Given the description of an element on the screen output the (x, y) to click on. 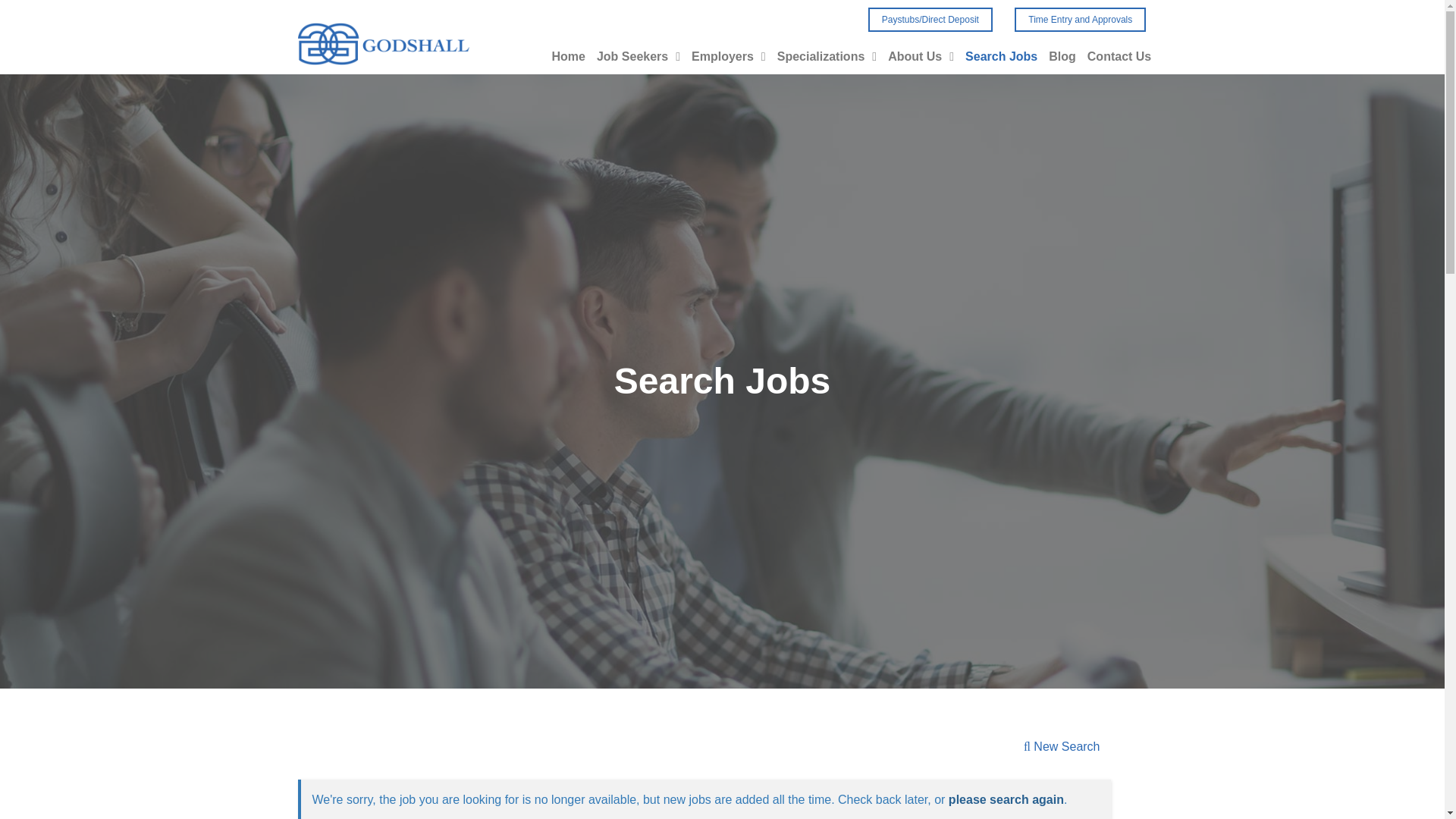
Blog (1061, 56)
Contact Us (1119, 56)
Search Jobs (1001, 55)
Specializations (826, 51)
Time Entry and Approvals (1079, 19)
About Us (920, 54)
Home (568, 30)
Employers (728, 47)
Job Seekers (638, 30)
